Given the description of an element on the screen output the (x, y) to click on. 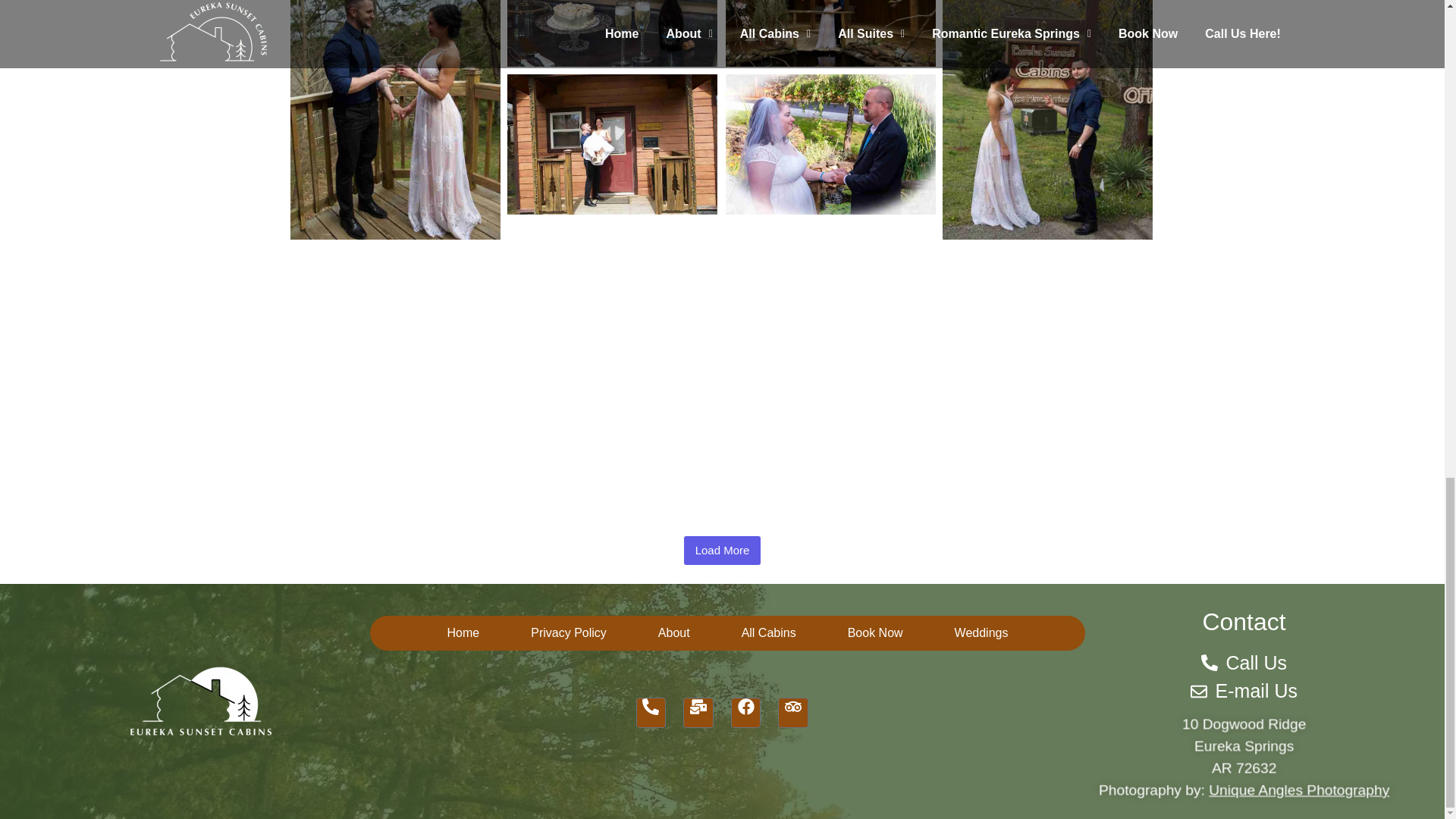
Weddings (981, 632)
About (673, 632)
Privacy Policy (568, 632)
All Cabins (769, 632)
Home (463, 632)
Load More (722, 550)
Book Now (875, 632)
